Given the description of an element on the screen output the (x, y) to click on. 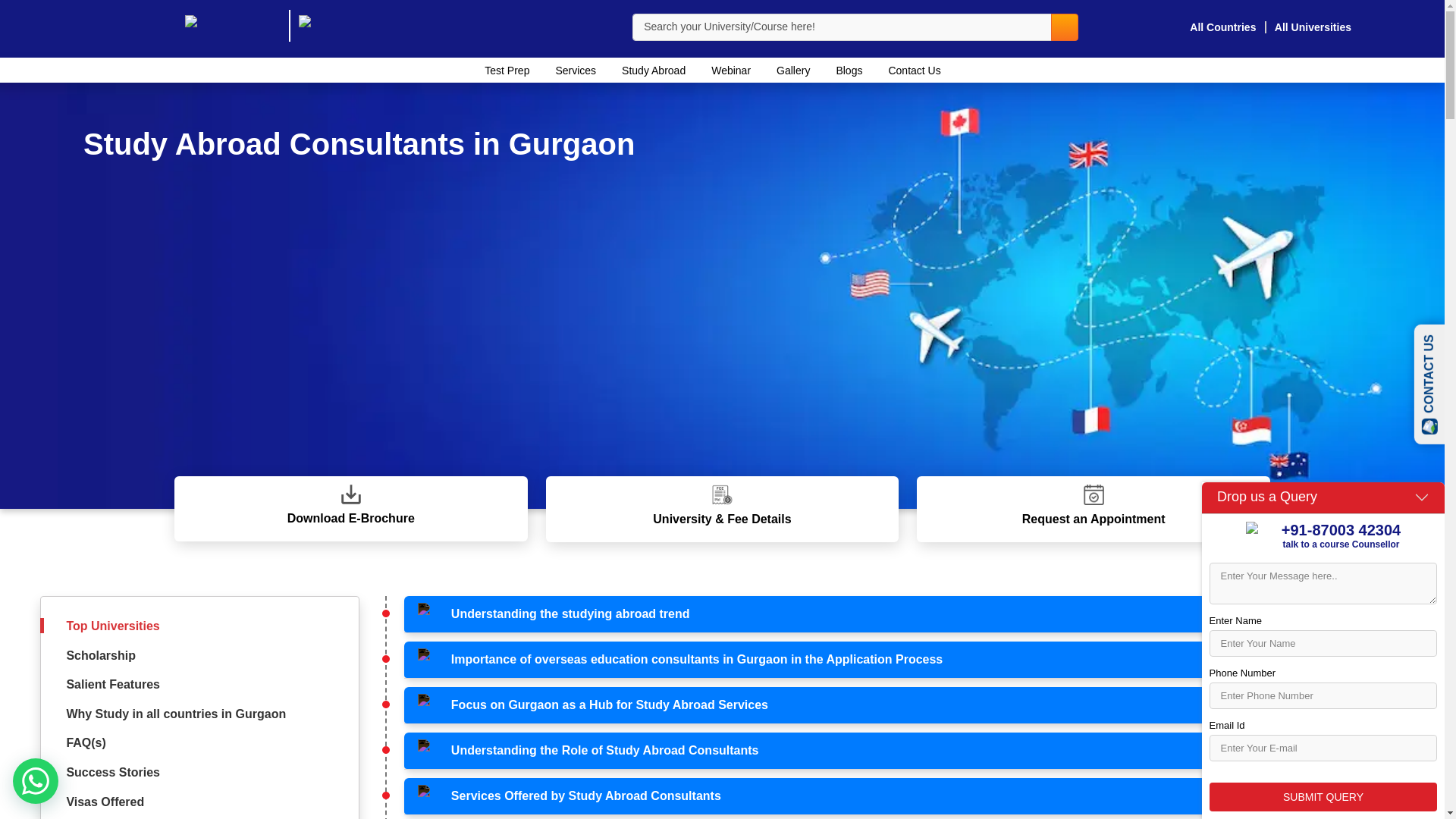
Why Study in all countries in Gurgaon (175, 713)
Top Universities (111, 625)
Understanding the Role of Study Abroad Consultants (902, 750)
Contact Us (914, 70)
Webinar (730, 70)
Focus on Gurgaon as a Hub for Study Abroad Services (902, 705)
Salient Features (112, 684)
Scholarship (100, 655)
Services Offered by Study Abroad Consultants (902, 796)
